Given the description of an element on the screen output the (x, y) to click on. 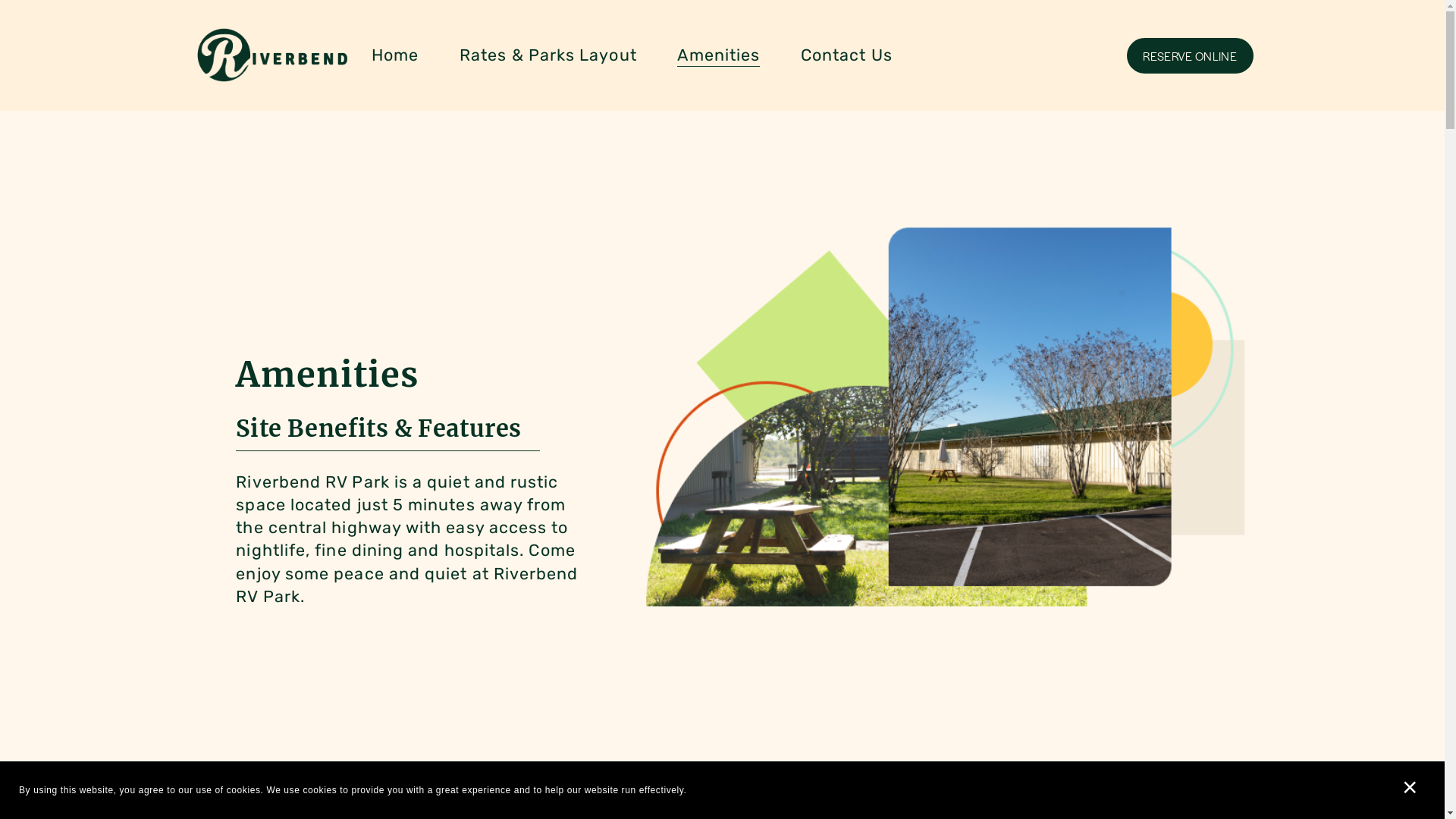
Home Element type: text (394, 55)
RESERVE ONLINE Element type: text (1189, 55)
Contact Us Element type: text (846, 55)
Rates & Parks Layout Element type: text (548, 55)
Amenities Element type: text (718, 55)
